Given the description of an element on the screen output the (x, y) to click on. 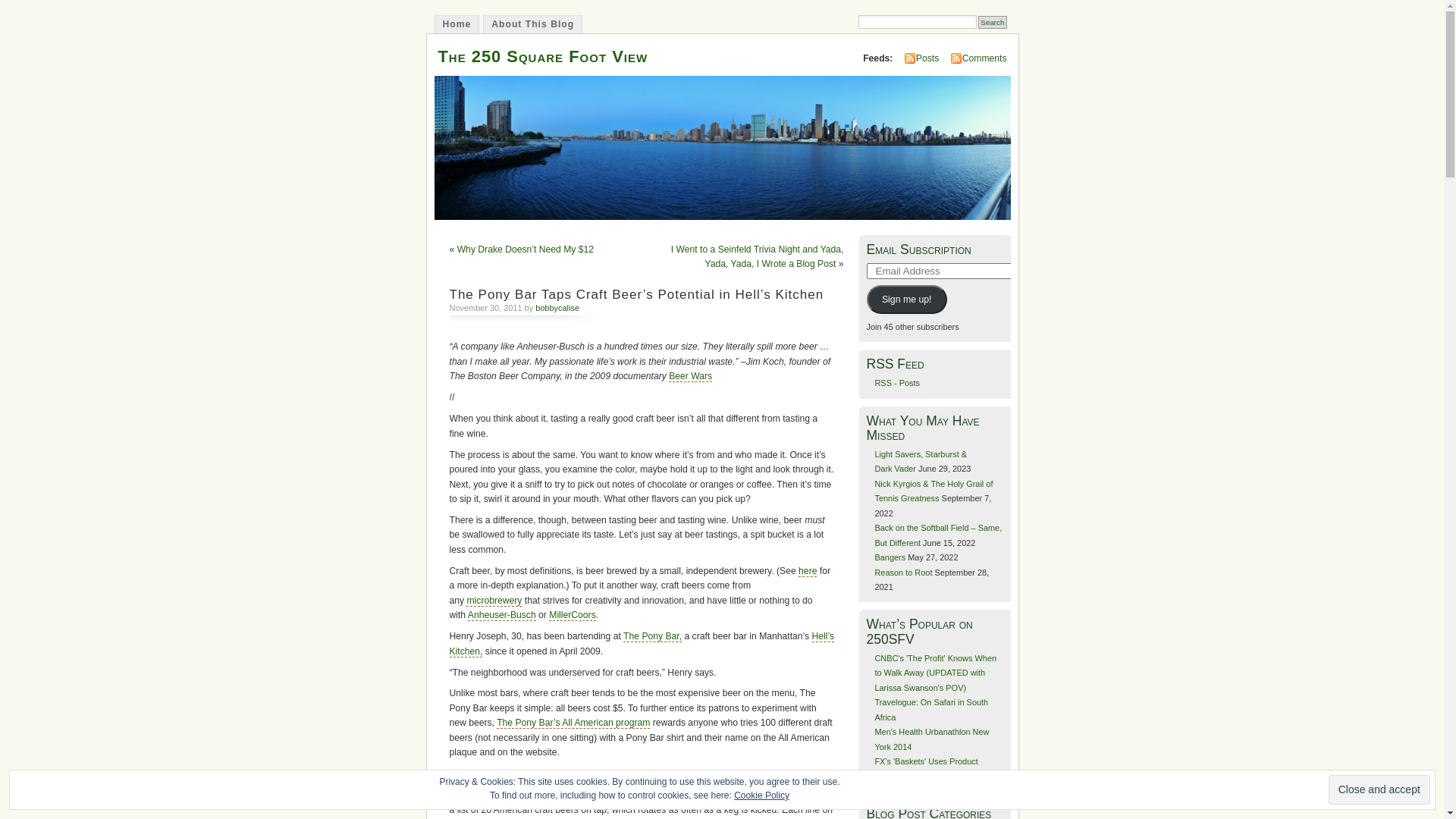
MillerCoors Element type: text (572, 615)
Bangers Element type: text (889, 556)
Travelogue: On Safari in South Africa Element type: text (931, 709)
Home Element type: text (456, 24)
here Element type: text (807, 571)
Sign me up! Element type: text (906, 299)
Cookie Policy Element type: text (761, 795)
Comments Element type: text (984, 58)
bobbycalise Element type: text (557, 307)
The 250 Square Foot View Element type: text (543, 56)
microbrewery Element type: text (493, 600)
Search Element type: text (992, 21)
Men's Health Urbanathlon New York 2014 Element type: text (931, 738)
FX's 'Baskets' Uses Product Placement in Bulk with Costco Element type: text (929, 768)
Nick Kyrgios & The Holy Grail of Tennis Greatness Element type: text (933, 490)
Light Savers, Starburst & Dark Vader Element type: text (920, 461)
Posts Element type: text (927, 58)
Beer Wars Element type: text (690, 376)
Close and accept Element type: text (1379, 789)
About This Blog Element type: text (532, 24)
RSS - Posts Element type: text (896, 382)
Anheuser-Busch Element type: text (501, 615)
Reason to Root Element type: text (902, 572)
The Pony Bar, Element type: text (652, 636)
